Given the description of an element on the screen output the (x, y) to click on. 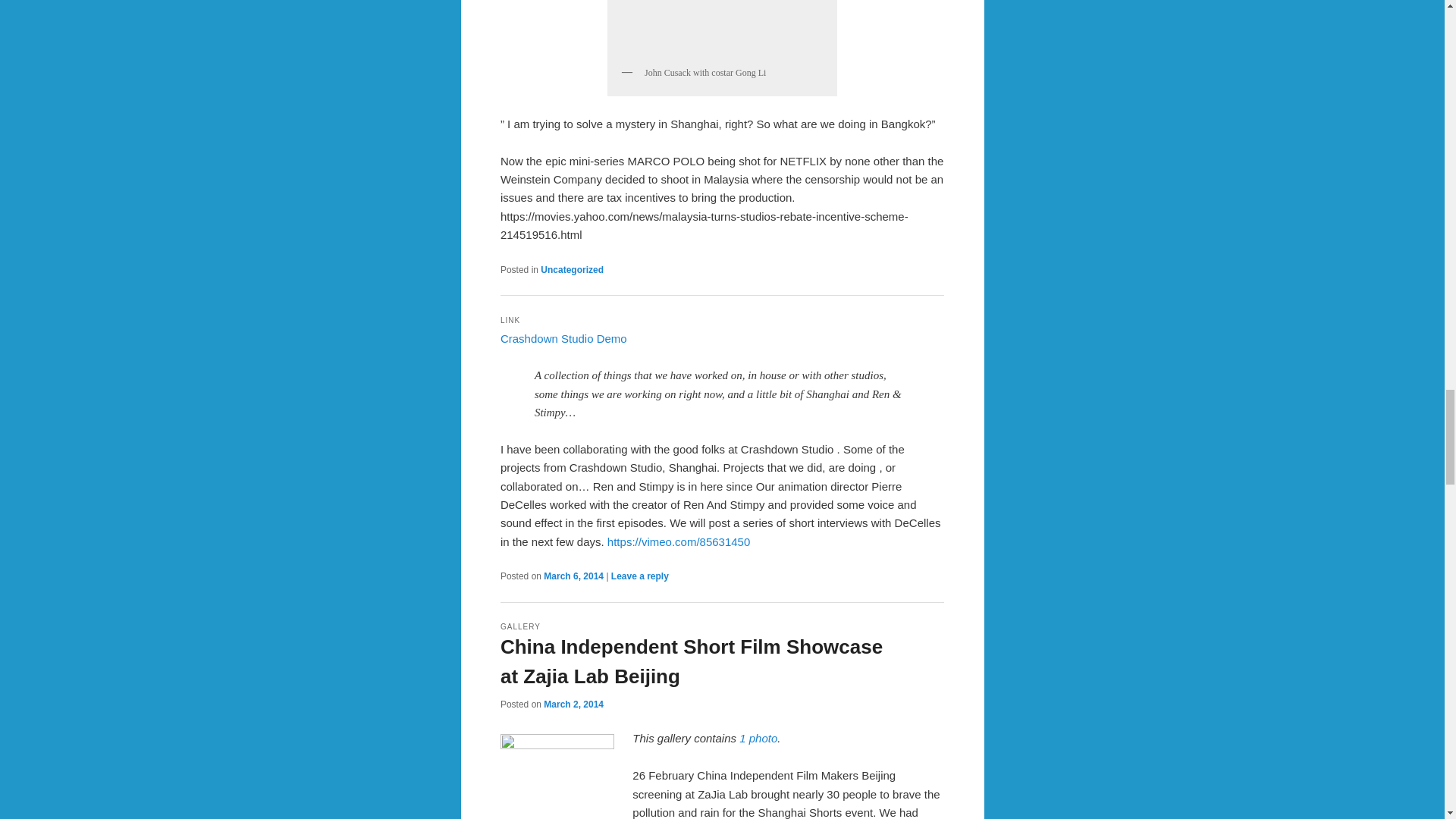
05:13 (573, 704)
15:30 (573, 575)
